Given the description of an element on the screen output the (x, y) to click on. 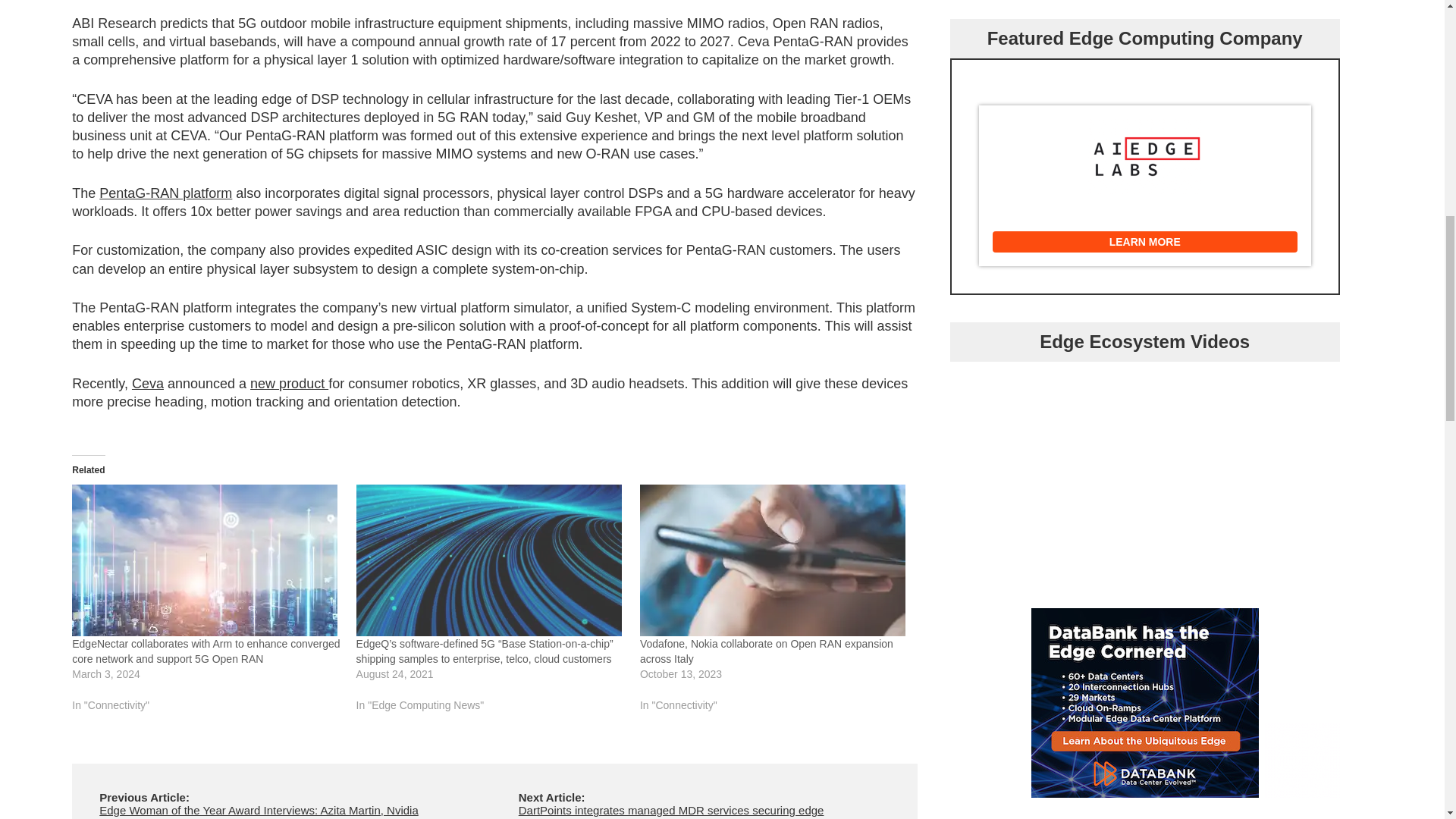
3rd party ad content (1144, 702)
